Given the description of an element on the screen output the (x, y) to click on. 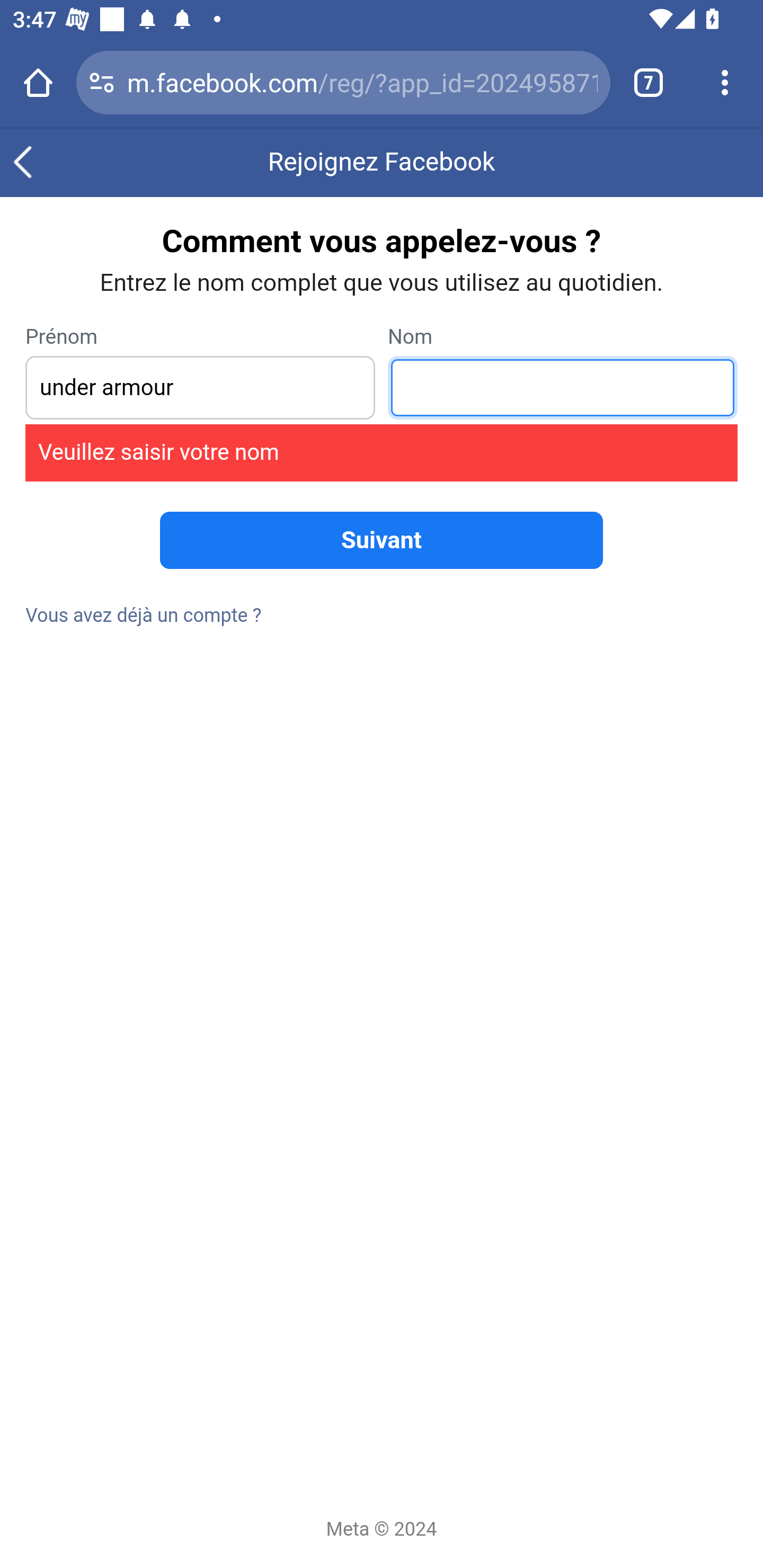
Open the home page (38, 82)
Connection is secure (101, 82)
Switch or close tabs (648, 82)
Customize and control Google Chrome (724, 82)
under armour (200, 387)
Suivant (381, 540)
Vous avez déjà un compte ? (143, 615)
